Given the description of an element on the screen output the (x, y) to click on. 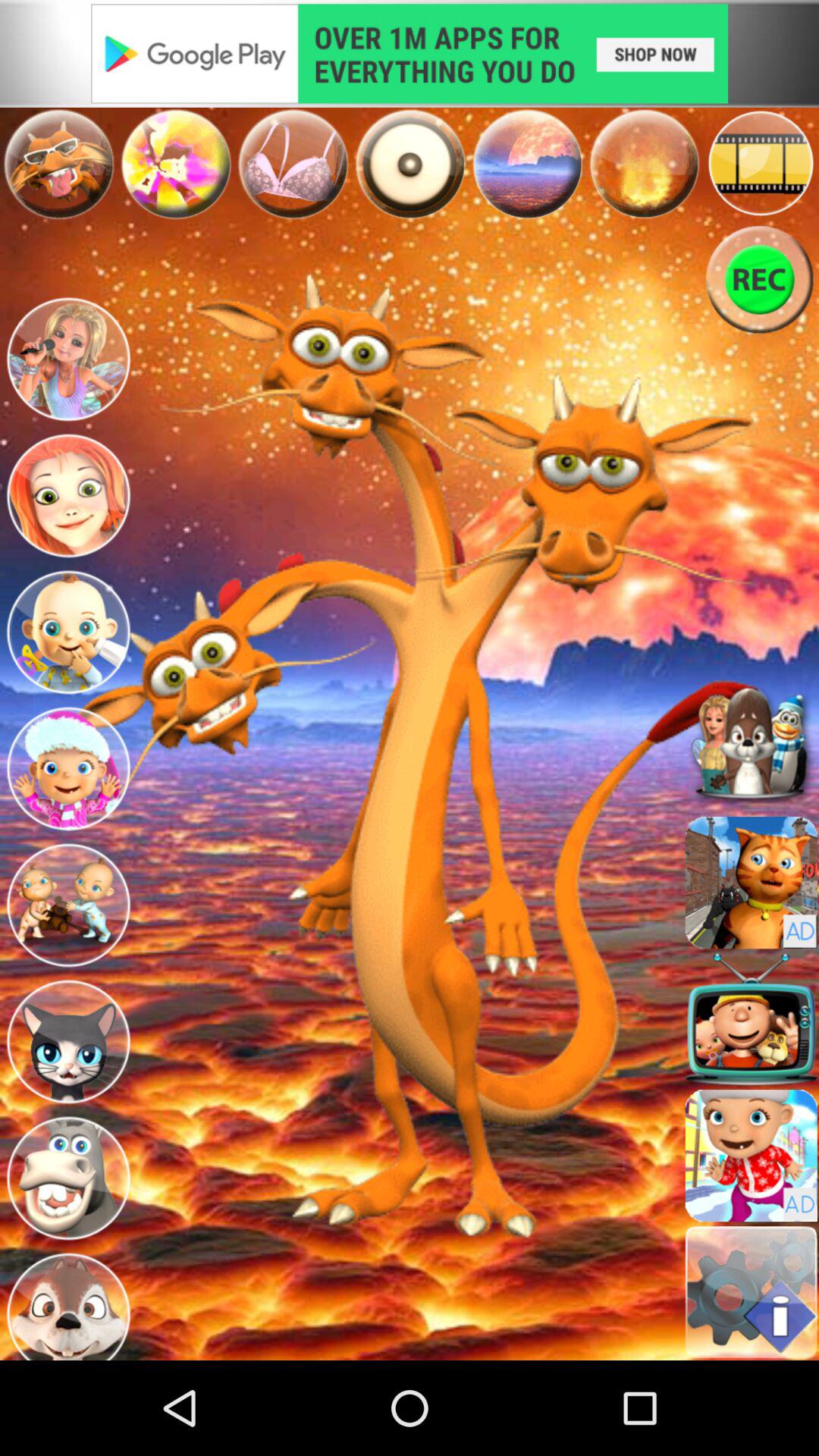
select highleted option (409, 163)
